Given the description of an element on the screen output the (x, y) to click on. 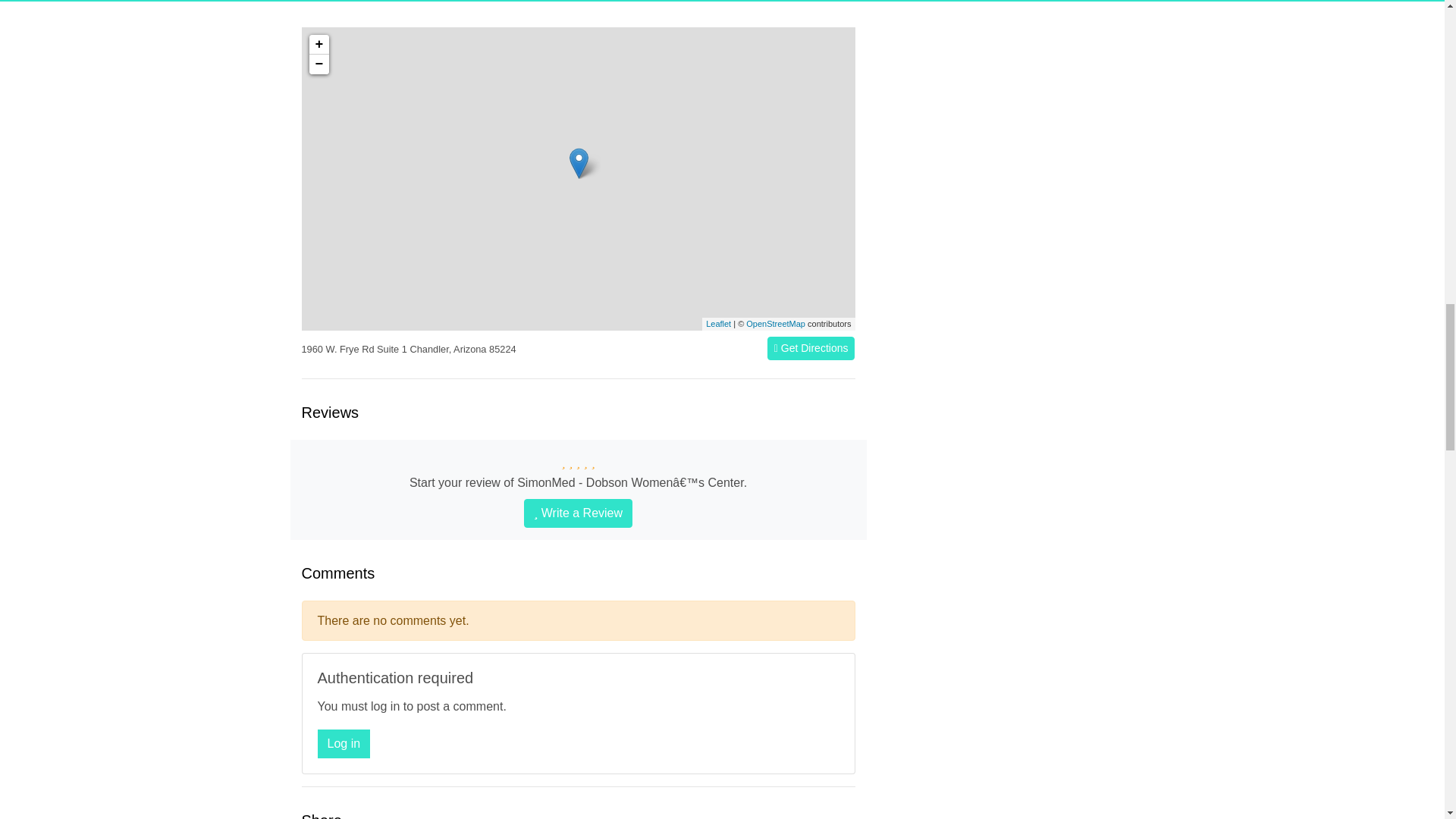
Zoom in (318, 44)
A JS library for interactive maps (718, 323)
Zoom out (318, 64)
